Given the description of an element on the screen output the (x, y) to click on. 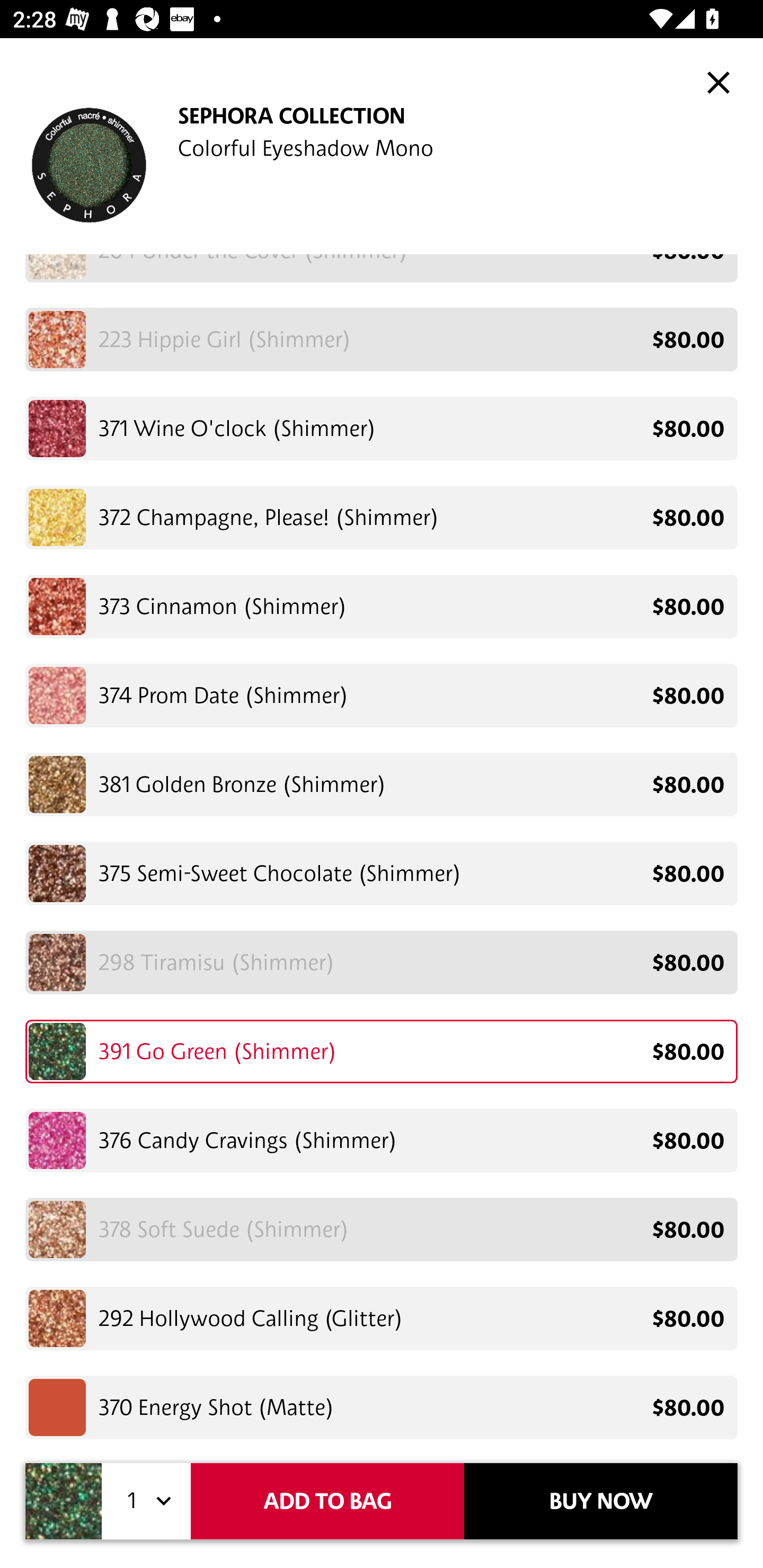
Share (648, 81)
SEPHORA COLLECTION Colorful Eyeshadow Mono (381, 158)
223 Hippie Girl (Shimmer) $80.00 (381, 339)
371 Wine O'clock (Shimmer) $80.00 (381, 428)
372 Champagne, Please! (Shimmer) $80.00 (381, 517)
373 Cinnamon (Shimmer) $80.00 (381, 605)
374 Prom Date (Shimmer) $80.00 (381, 694)
381 Golden Bronze (Shimmer) $80.00 (381, 784)
375 Semi-Sweet Chocolate (Shimmer) $80.00 (381, 873)
298 Tiramisu (Shimmer) $80.00 (381, 962)
391 Go Green (Shimmer) $80.00 (381, 1050)
376 Candy Cravings (Shimmer) $80.00 (381, 1140)
378 Soft Suede (Shimmer) $80.00 (381, 1228)
292 Hollywood Calling (Glitter) $80.00 (381, 1318)
370 Energy Shot (Matte) $80.00 (381, 1403)
1 (145, 1500)
ADD TO BAG (326, 1500)
BUY NOW (600, 1500)
